Given the description of an element on the screen output the (x, y) to click on. 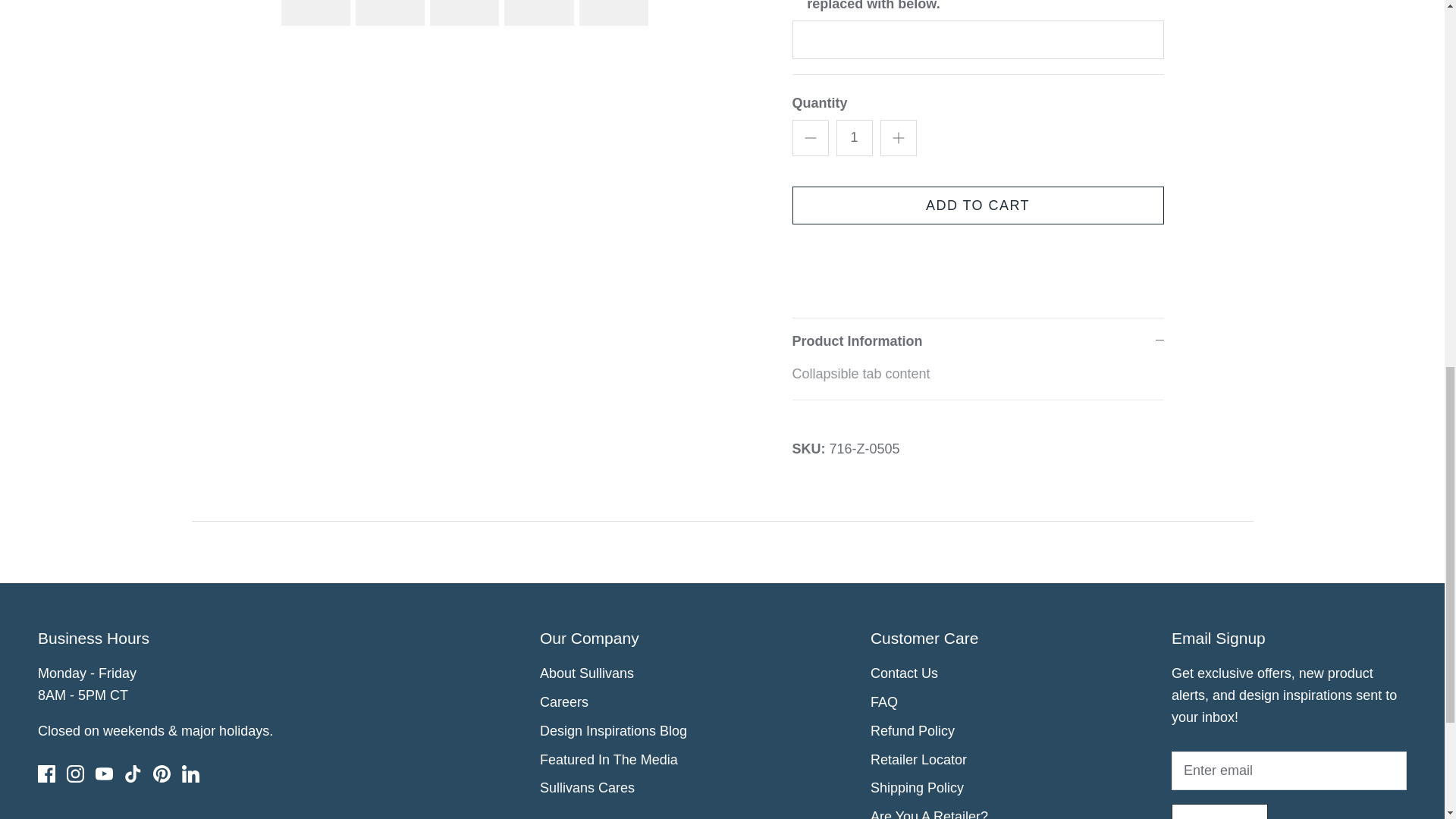
Pinterest (161, 773)
1 (853, 137)
Youtube (104, 773)
Facebook (46, 773)
Minus (809, 137)
Plus (897, 137)
Instagram (75, 773)
